Given the description of an element on the screen output the (x, y) to click on. 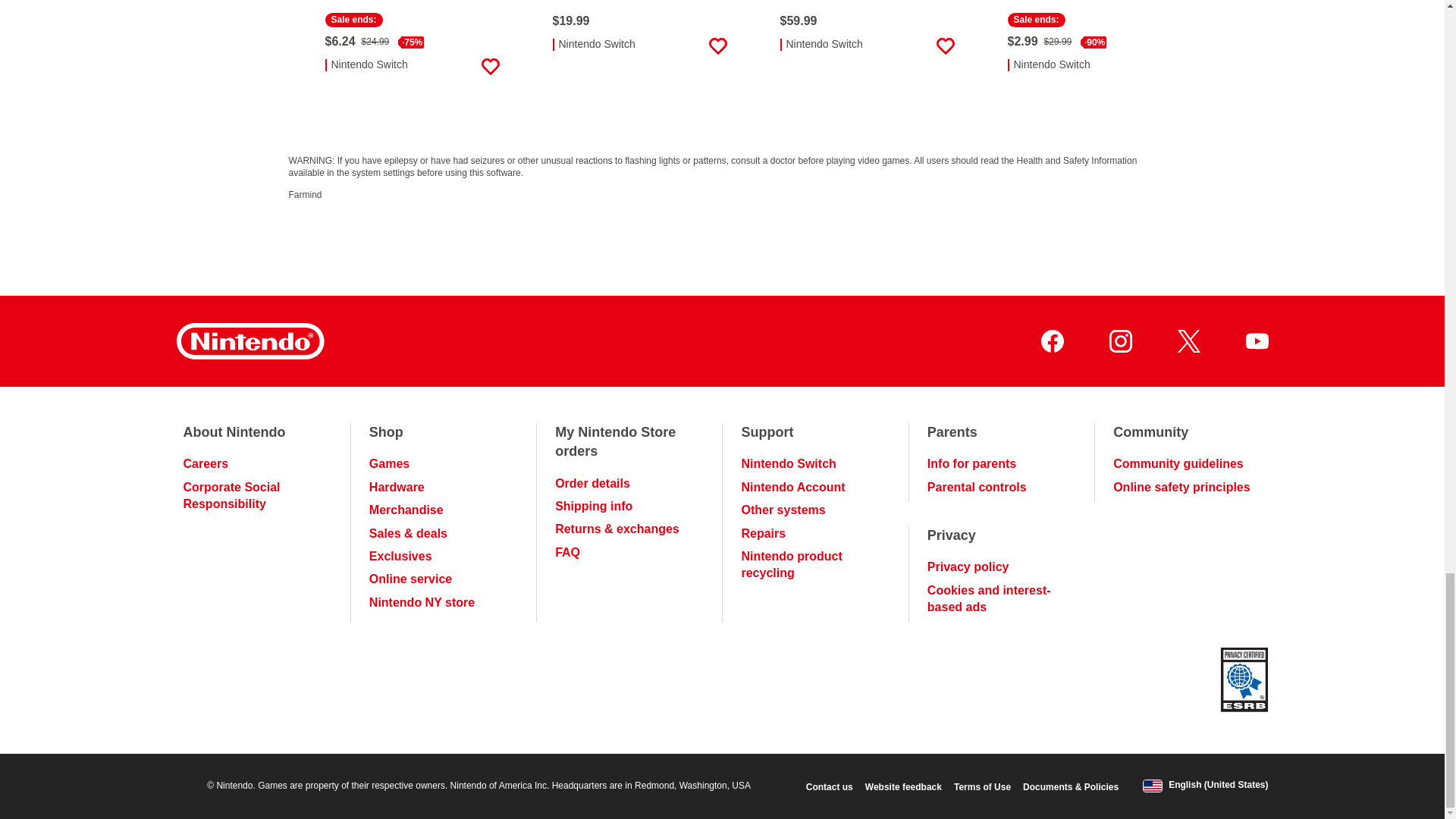
Nintendo on Twitter (1187, 341)
Add to Wish List (489, 66)
Nintendo on Instagram (1119, 341)
Nintendo Homepage (249, 340)
Add to Wish List (716, 46)
Nintendo on YouTube (1256, 341)
Add to Wish List (1172, 66)
Nintendo on Facebook (1051, 341)
Add to Wish List (944, 46)
